Given the description of an element on the screen output the (x, y) to click on. 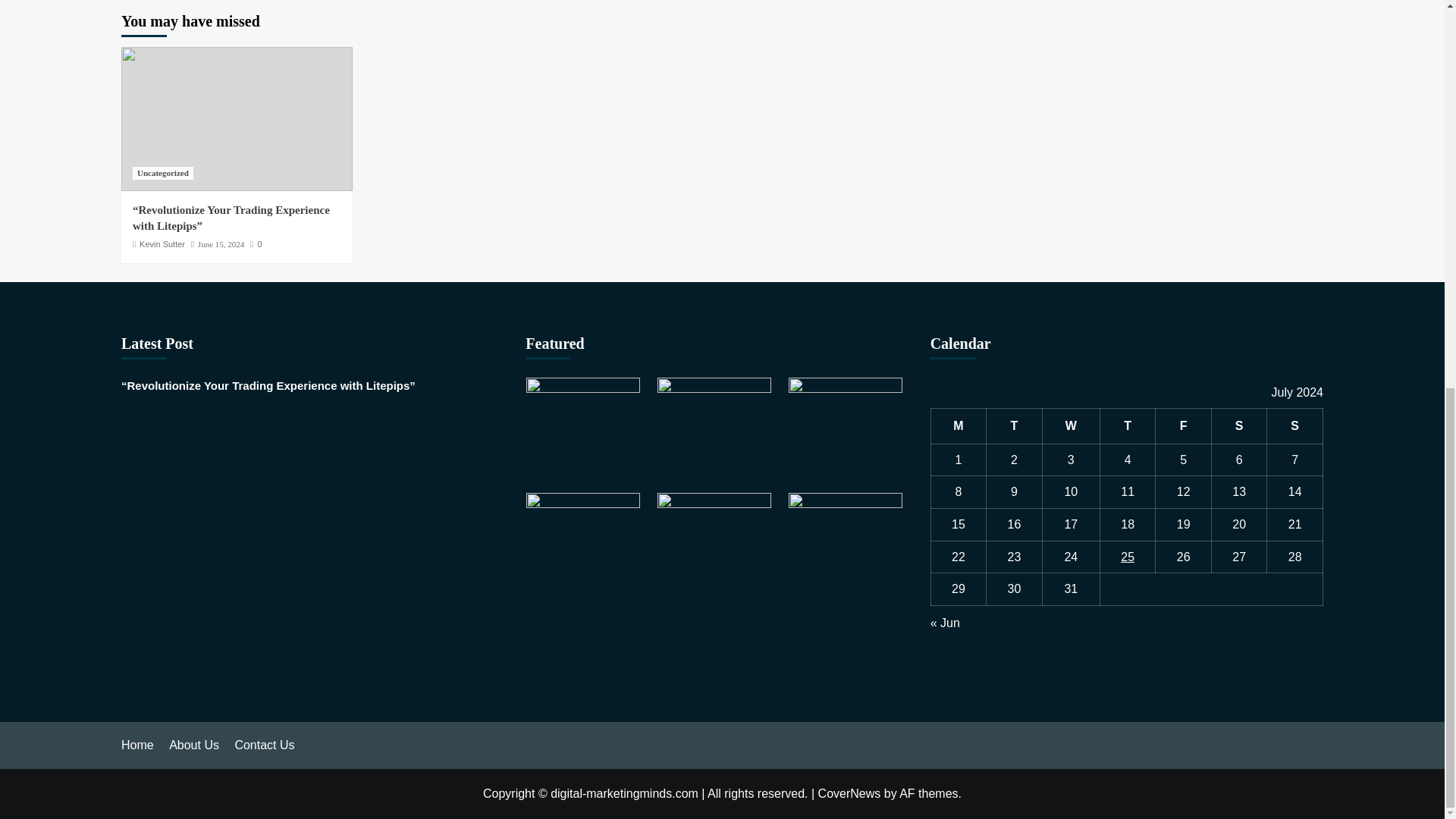
Thursday (1127, 426)
Saturday (1238, 426)
Uncategorized (162, 173)
0 (256, 243)
Wednesday (1070, 426)
Monday (958, 426)
June 15, 2024 (221, 243)
Sunday (1294, 426)
Friday (1183, 426)
Tuesday (1014, 426)
Kevin Sutter (161, 243)
